Given the description of an element on the screen output the (x, y) to click on. 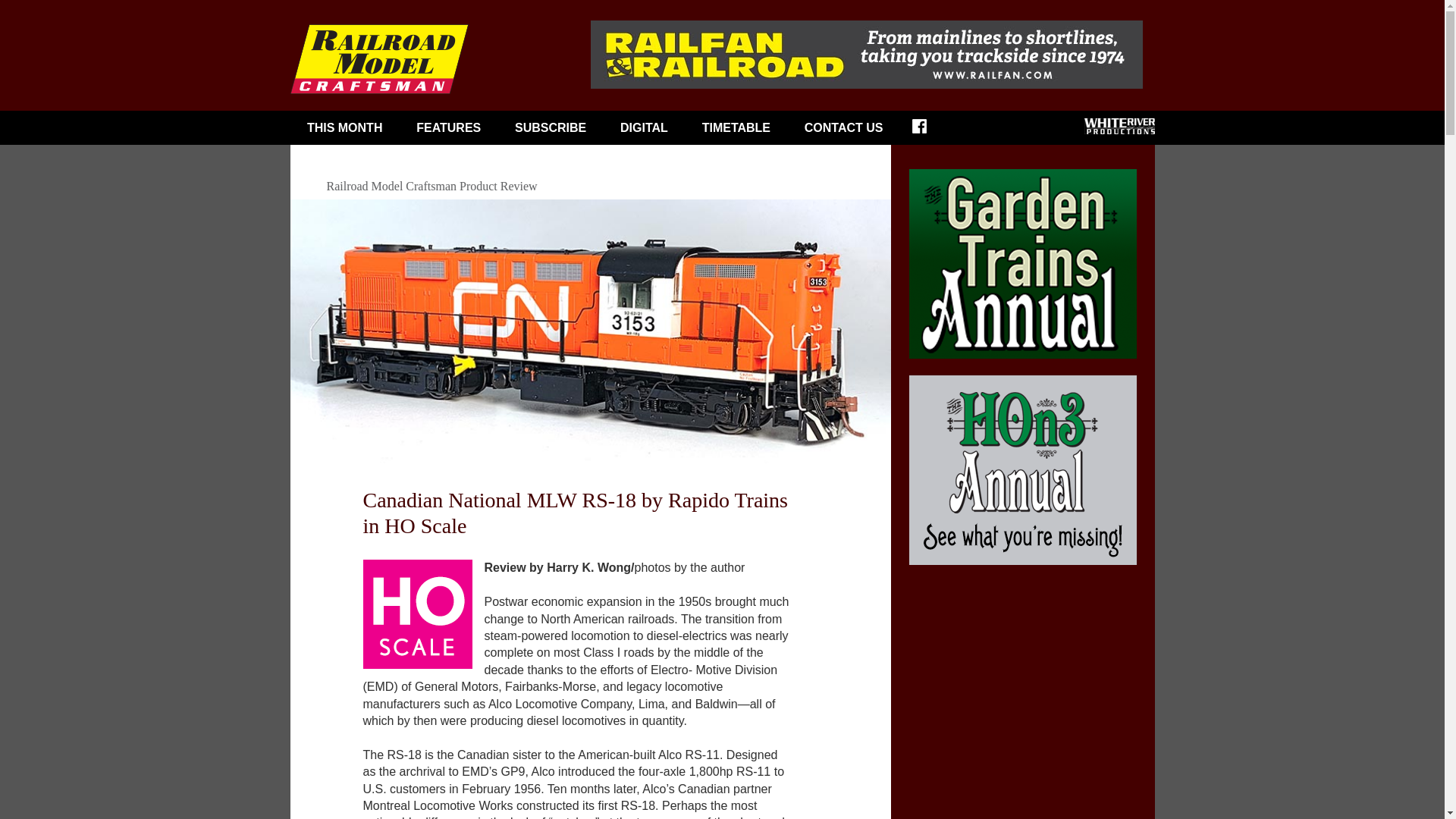
SUBSCRIBE (550, 127)
DIGITAL (644, 127)
Railroad Model Craftsman (378, 59)
THIS MONTH (343, 127)
FACEBOOK (929, 130)
TIMETABLE (735, 127)
CONTACT US (843, 127)
FEATURES (447, 127)
